Given the description of an element on the screen output the (x, y) to click on. 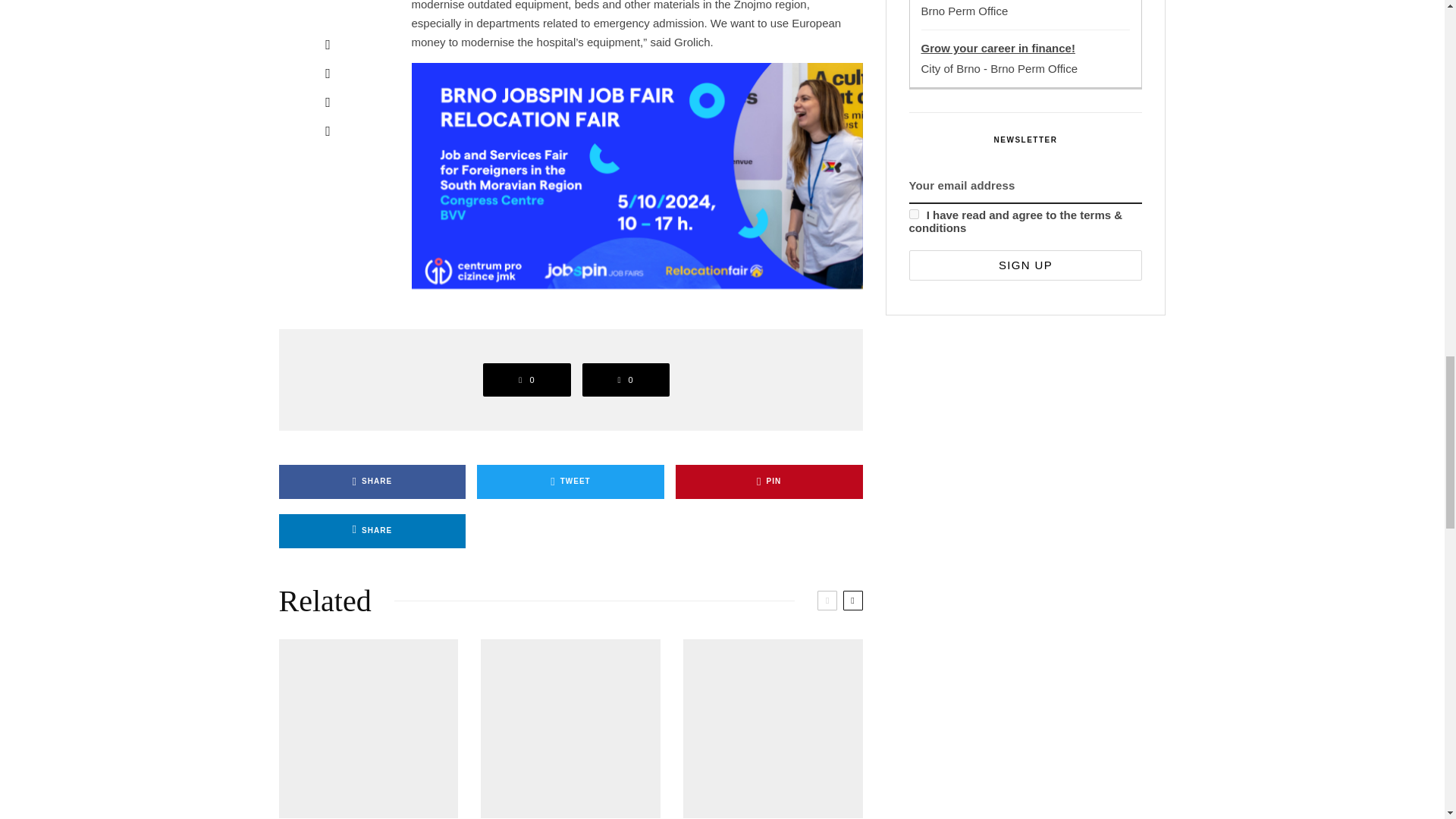
1 (913, 214)
Sign up (1024, 265)
